Given the description of an element on the screen output the (x, y) to click on. 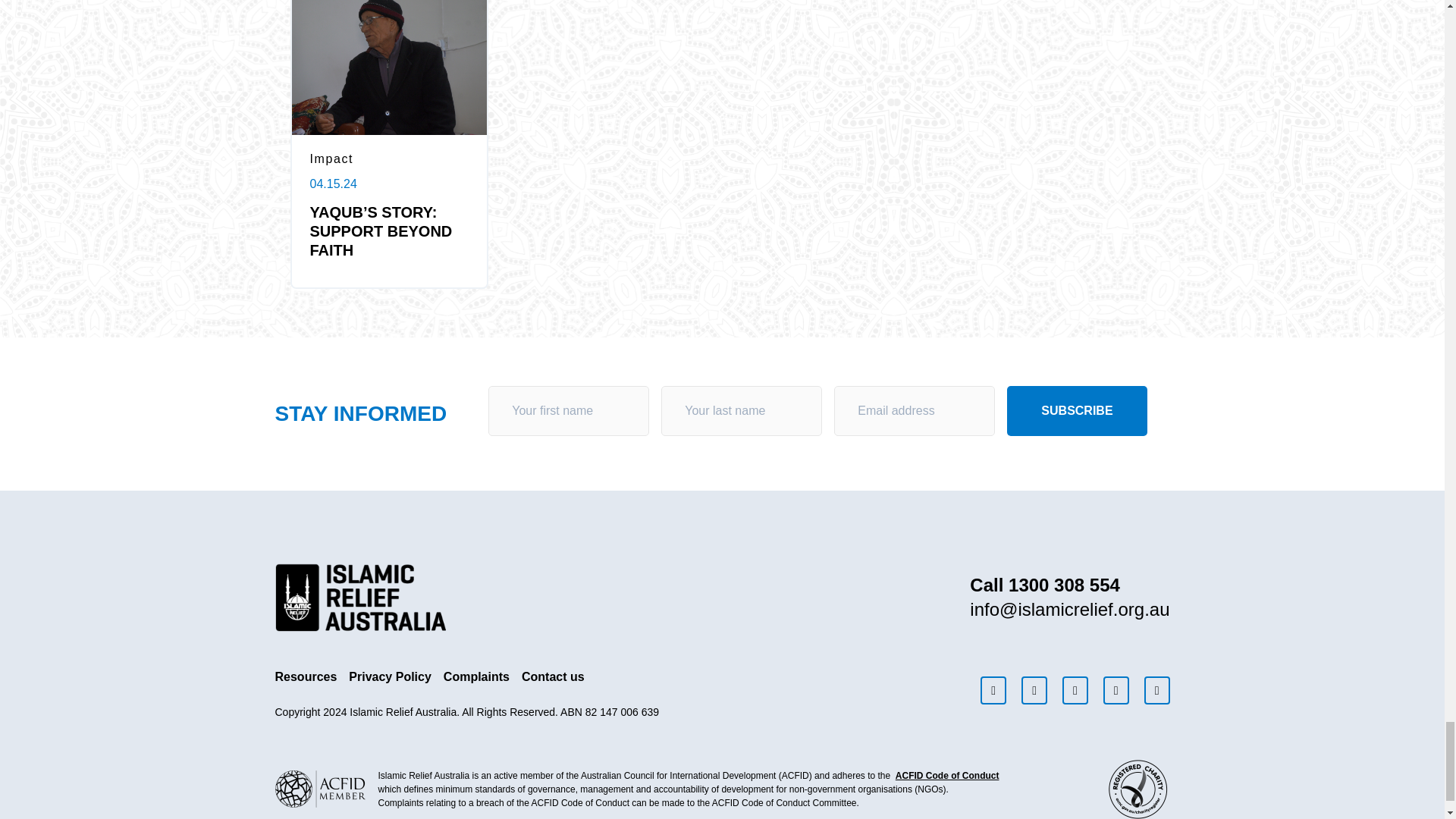
Subscribe (1077, 410)
